Given the description of an element on the screen output the (x, y) to click on. 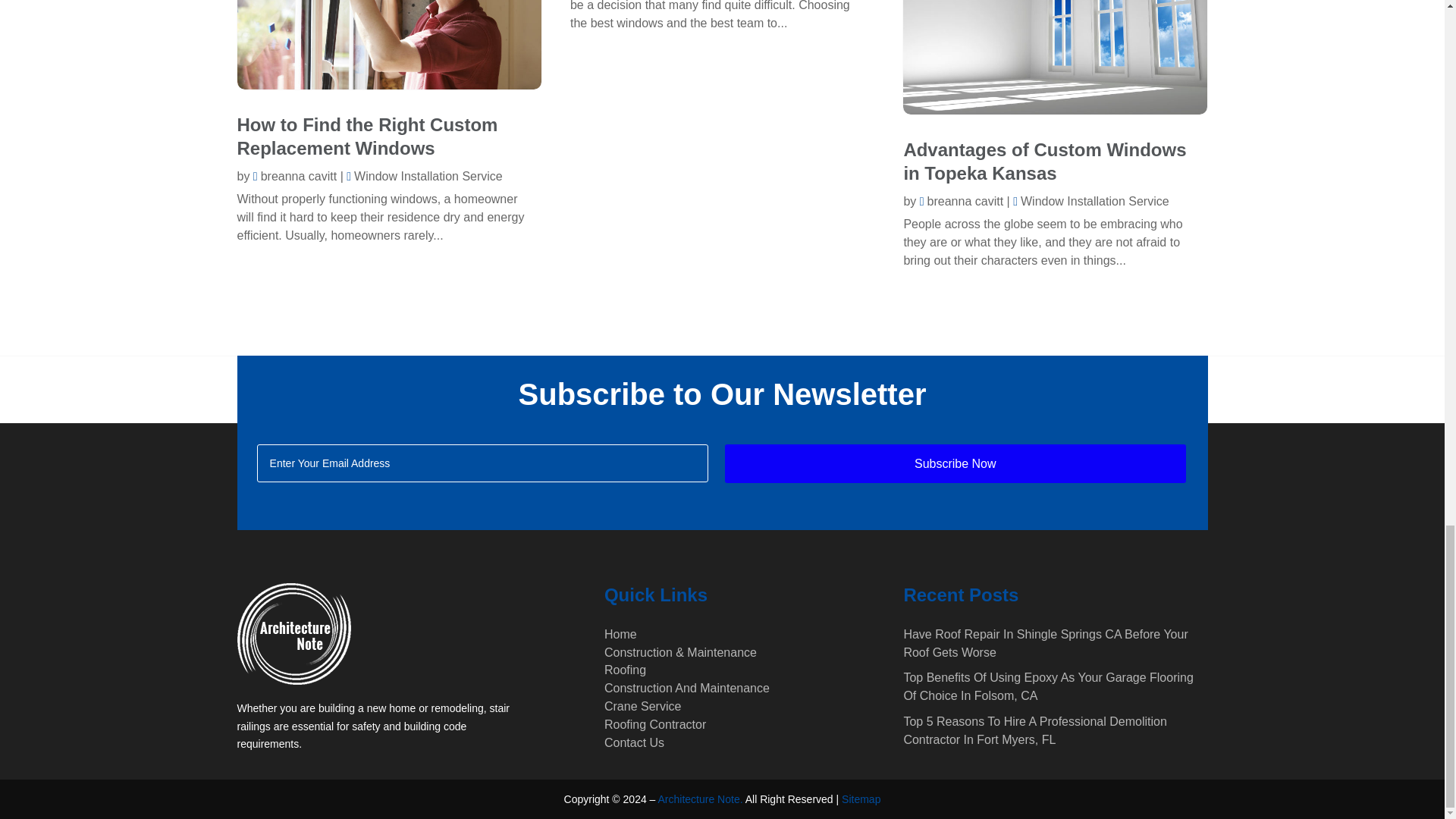
Posts by breanna cavitt (961, 201)
Posts by breanna cavitt (294, 175)
Architecture Note - Footer Logo (292, 633)
